Given the description of an element on the screen output the (x, y) to click on. 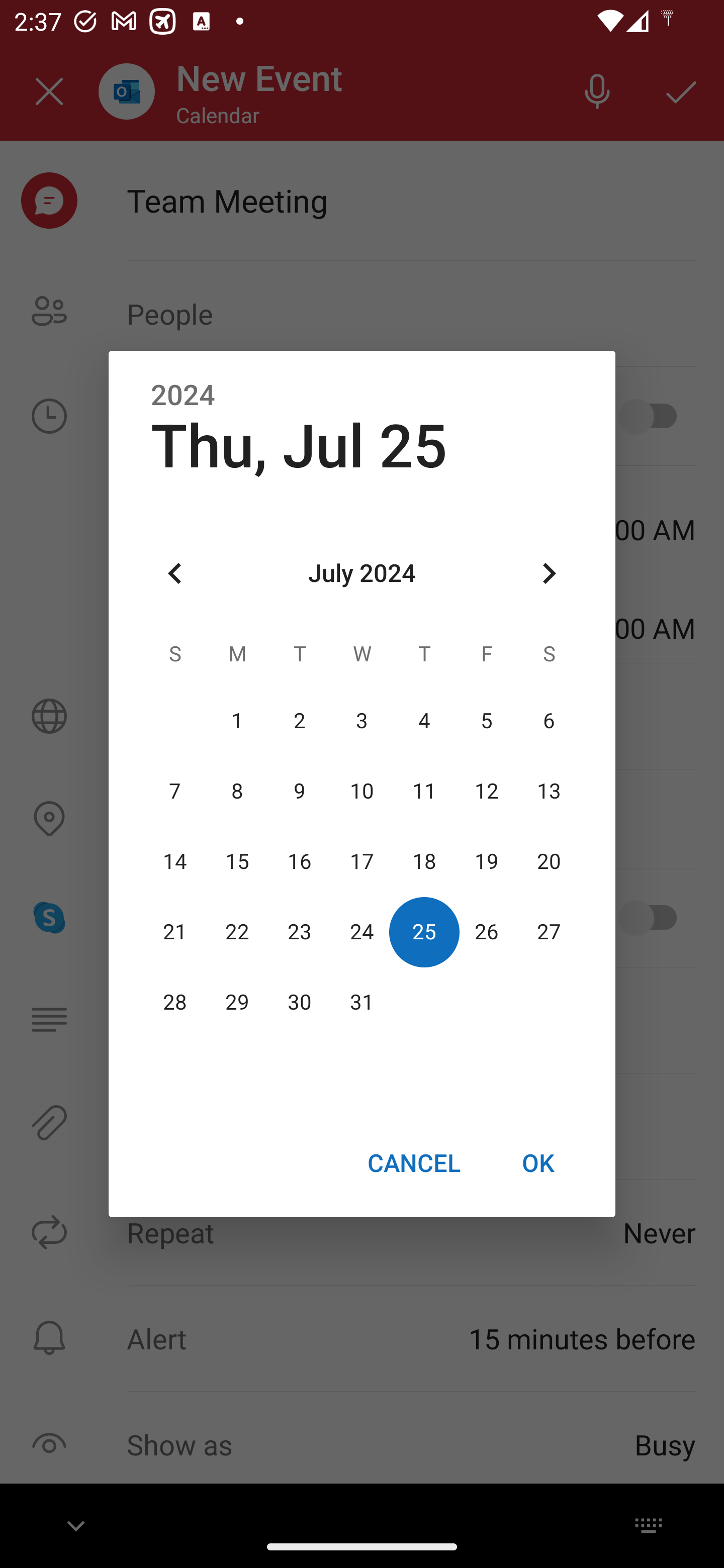
2024 (182, 395)
Thu, Jul 25 (298, 446)
Previous month (174, 573)
Next month (548, 573)
1 01 July 2024 (237, 720)
2 02 July 2024 (299, 720)
3 03 July 2024 (361, 720)
4 04 July 2024 (424, 720)
5 05 July 2024 (486, 720)
6 06 July 2024 (548, 720)
7 07 July 2024 (175, 790)
8 08 July 2024 (237, 790)
9 09 July 2024 (299, 790)
10 10 July 2024 (361, 790)
11 11 July 2024 (424, 790)
12 12 July 2024 (486, 790)
13 13 July 2024 (548, 790)
14 14 July 2024 (175, 861)
15 15 July 2024 (237, 861)
16 16 July 2024 (299, 861)
17 17 July 2024 (361, 861)
18 18 July 2024 (424, 861)
19 19 July 2024 (486, 861)
20 20 July 2024 (548, 861)
21 21 July 2024 (175, 931)
22 22 July 2024 (237, 931)
23 23 July 2024 (299, 931)
24 24 July 2024 (361, 931)
25 25 July 2024 (424, 931)
26 26 July 2024 (486, 931)
27 27 July 2024 (548, 931)
28 28 July 2024 (175, 1002)
29 29 July 2024 (237, 1002)
30 30 July 2024 (299, 1002)
31 31 July 2024 (361, 1002)
CANCEL (413, 1162)
OK (537, 1162)
